Given the description of an element on the screen output the (x, y) to click on. 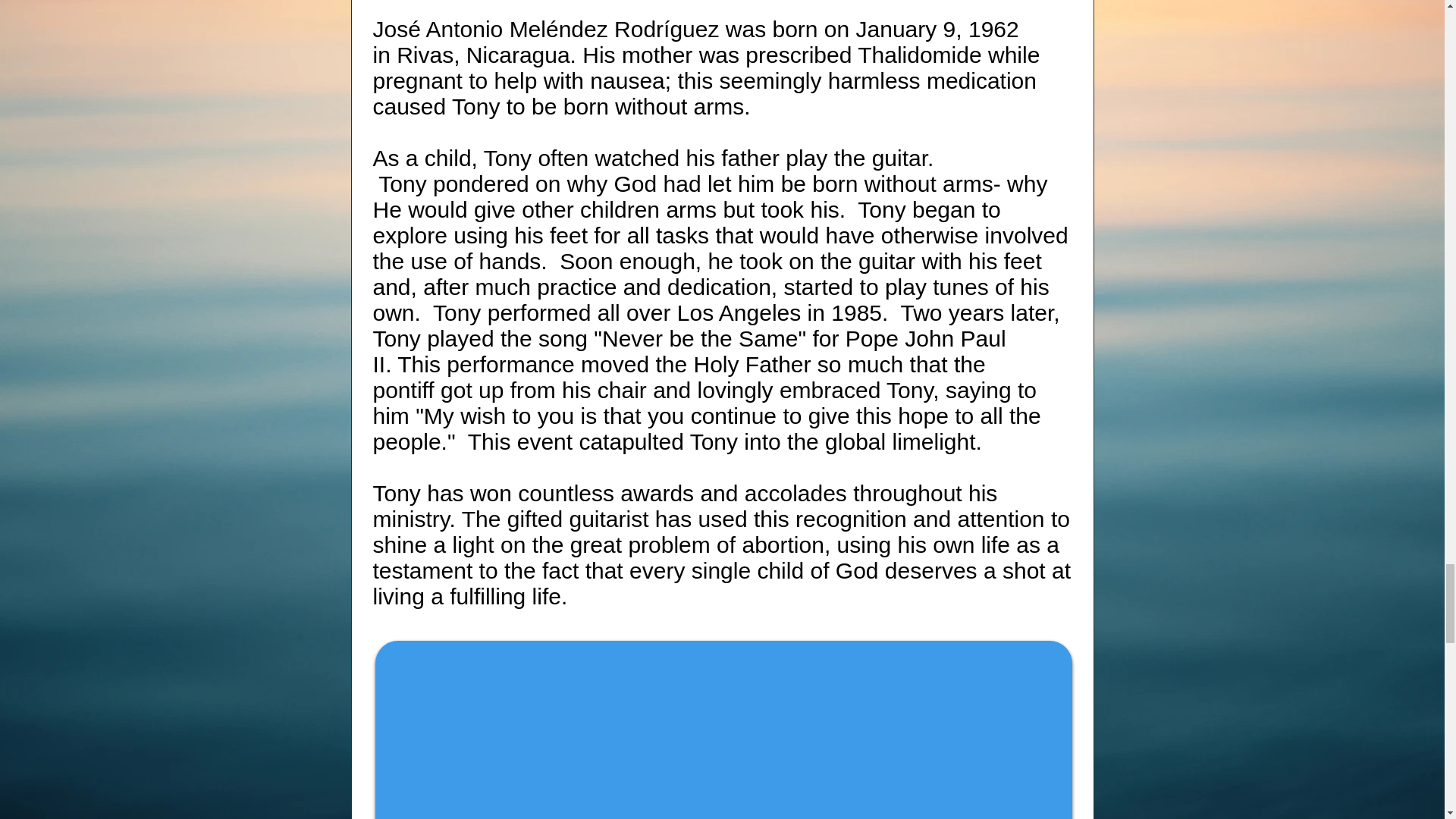
External YouTube (722, 732)
Thalidomide (919, 54)
Rivas, Nicaragua. (486, 54)
